Given the description of an element on the screen output the (x, y) to click on. 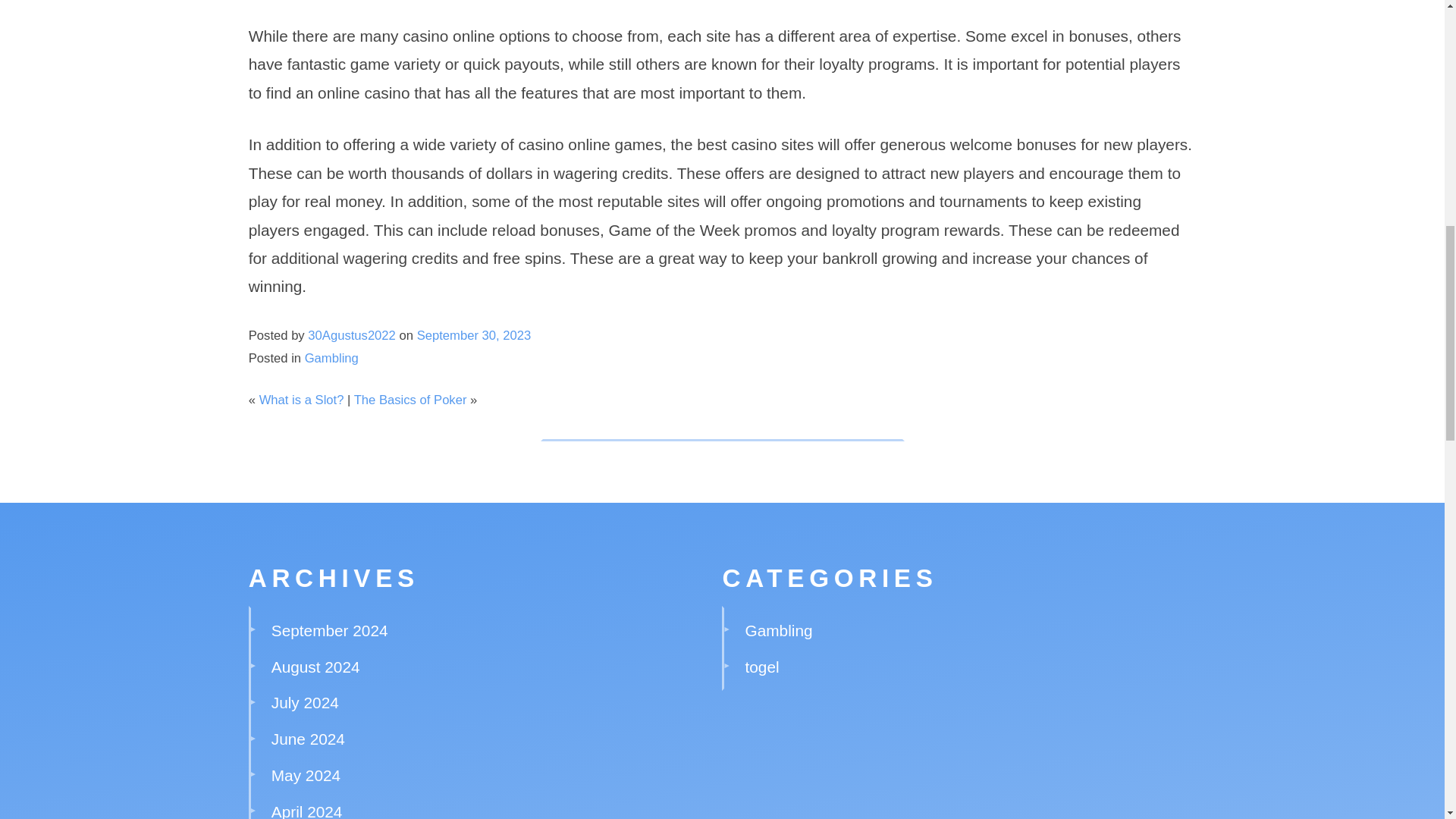
August 2024 (314, 666)
togel (761, 666)
July 2024 (304, 702)
April 2024 (306, 811)
June 2024 (307, 738)
30Agustus2022 (351, 335)
What is a Slot? (301, 400)
May 2024 (305, 774)
Gambling (331, 358)
Gambling (778, 630)
